Given the description of an element on the screen output the (x, y) to click on. 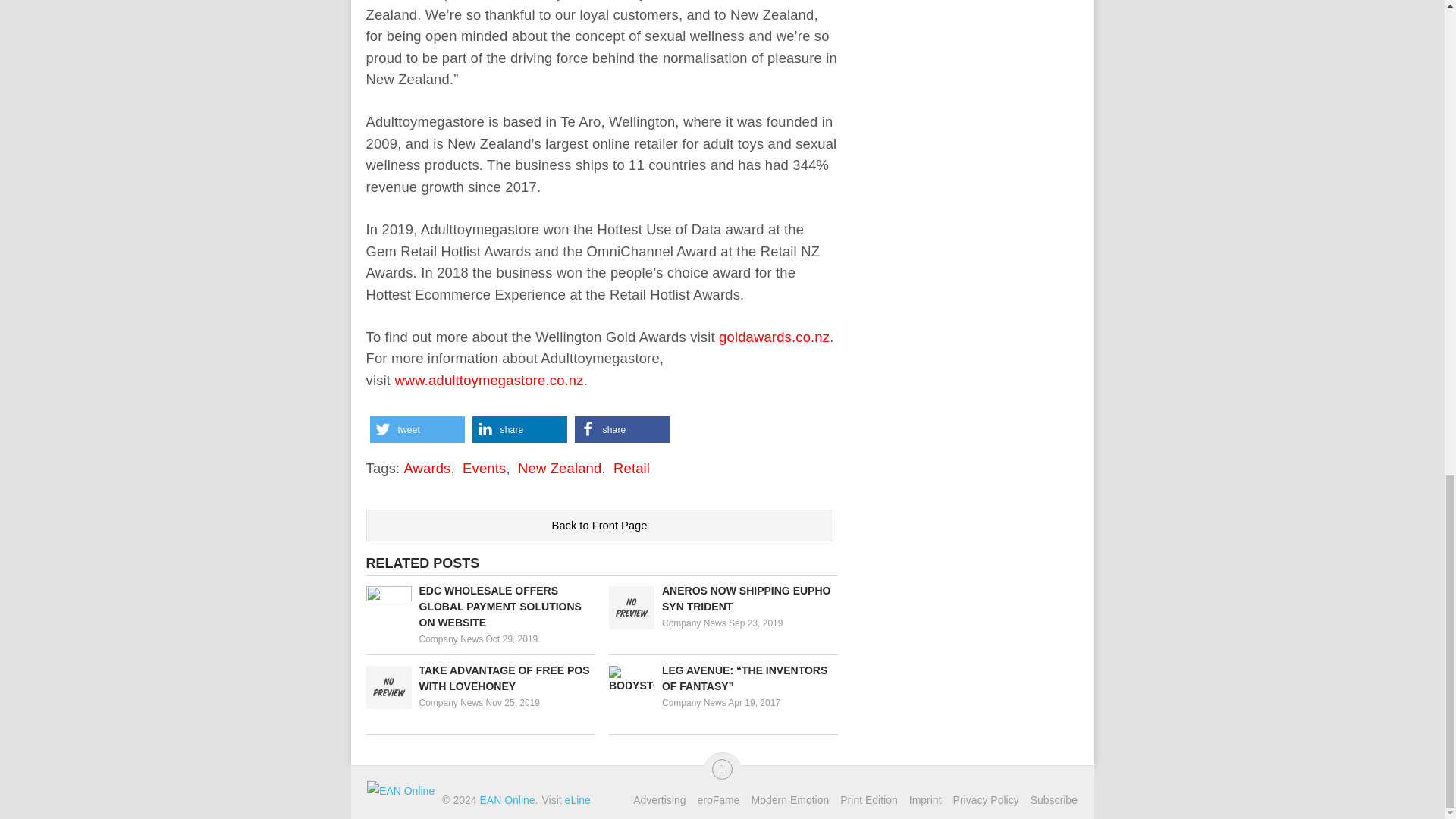
EDC Wholesale offers global payment solutions on website (479, 606)
www.adulttoymegastore.co.nz (488, 380)
Take advantage of free POS with Lovehoney (479, 678)
share  (518, 429)
Share on Facebook (622, 429)
New Zealand (559, 467)
Events (484, 467)
Retail (630, 467)
Back to Front Page (599, 525)
Share on Twitter (416, 429)
EDC WHOLESALE OFFERS GLOBAL PAYMENT SOLUTIONS ON WEBSITE (479, 606)
Aneros now shipping Eupho Syn Trident (723, 599)
ANEROS NOW SHIPPING EUPHO SYN TRIDENT (723, 599)
Awards (426, 467)
TAKE ADVANTAGE OF FREE POS WITH LOVEHONEY (479, 678)
